Given the description of an element on the screen output the (x, y) to click on. 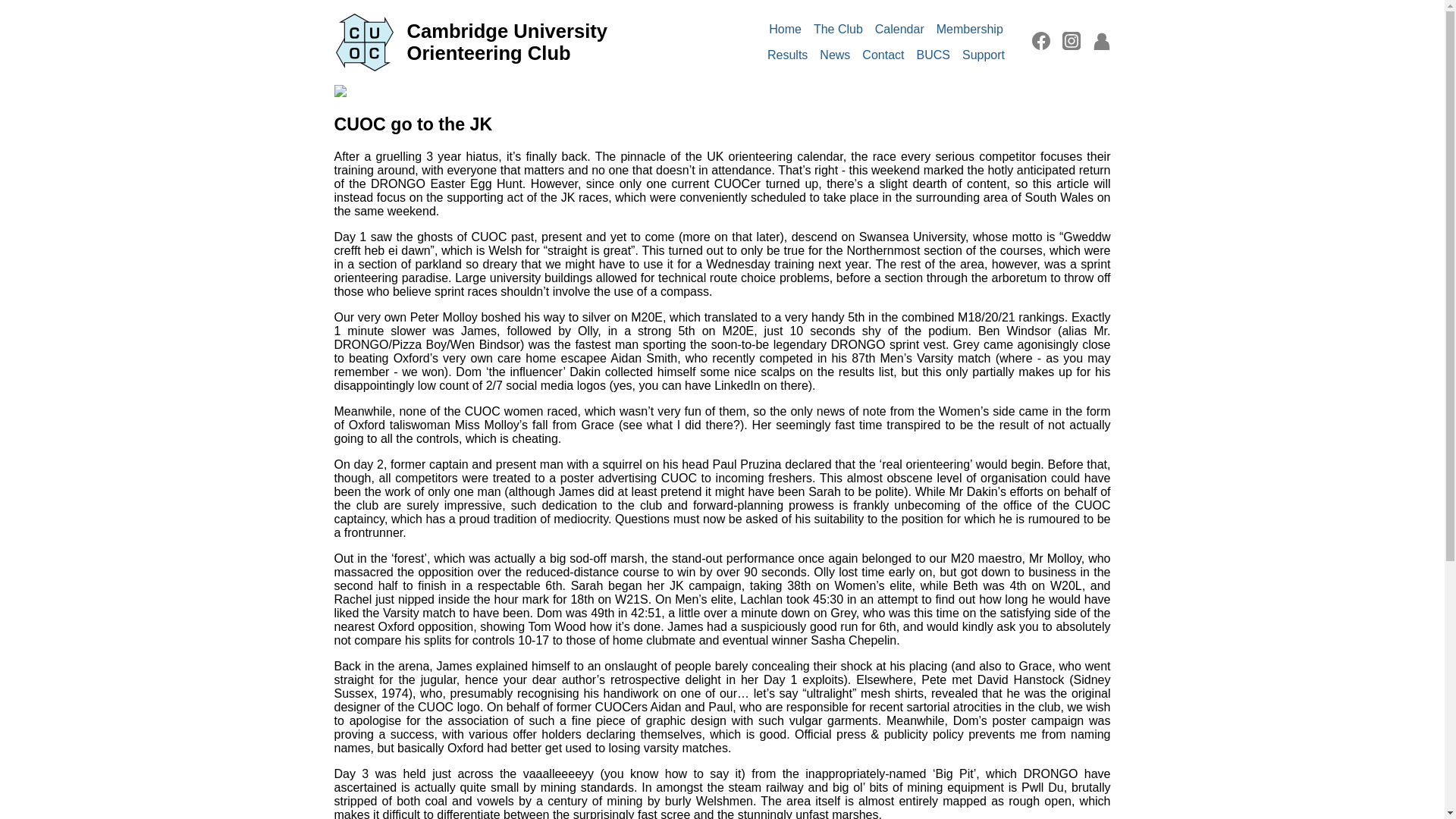
CUOC Logo (363, 42)
